Given the description of an element on the screen output the (x, y) to click on. 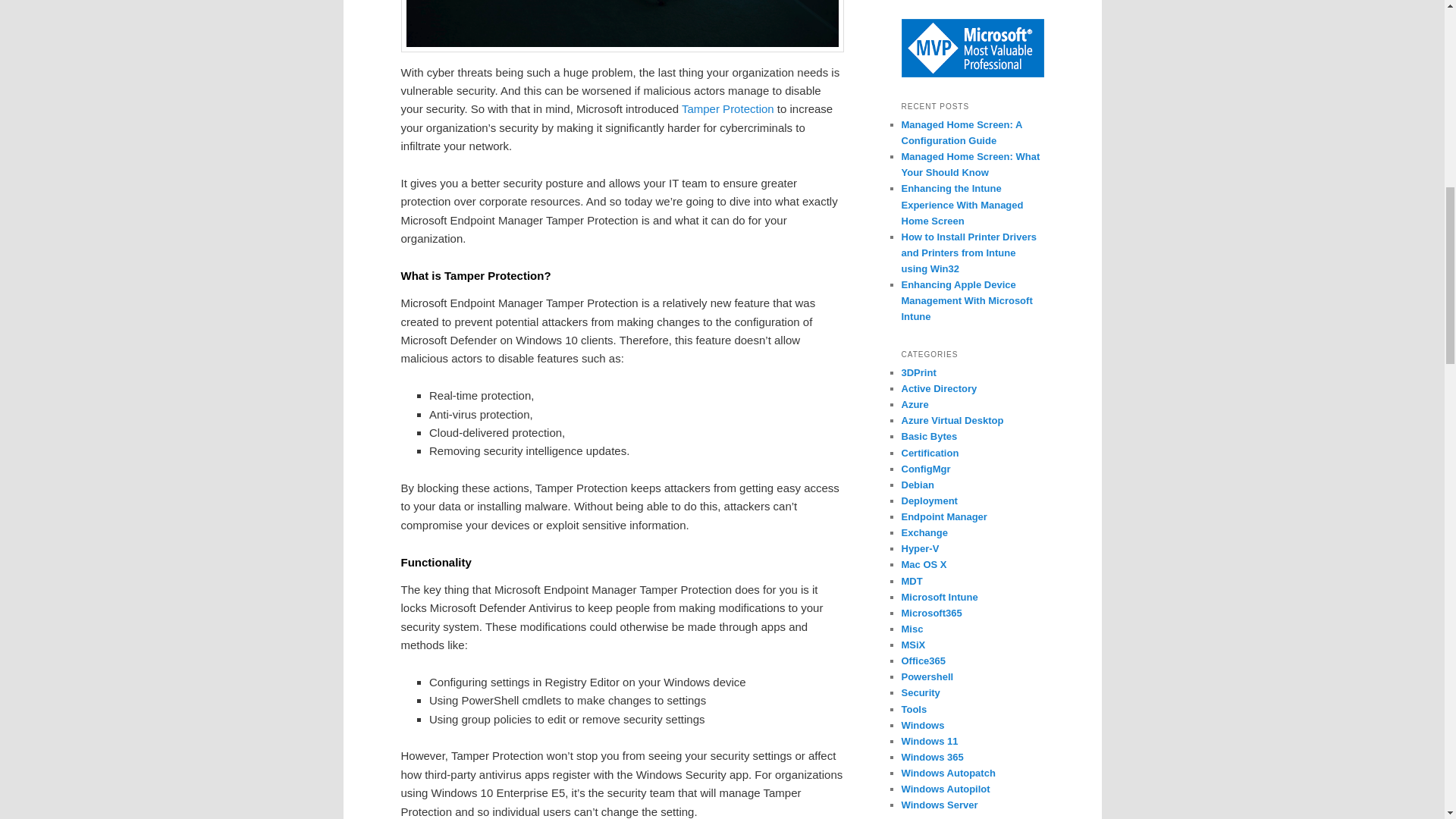
Tamper Protection (727, 108)
Enhancing the Intune Experience With Managed Home Screen (962, 204)
Managed Home Screen: What Your Should Know (970, 164)
Managed Home Screen: A Configuration Guide (961, 132)
Enhancing Apple Device Management With Microsoft Intune (966, 300)
